Given the description of an element on the screen output the (x, y) to click on. 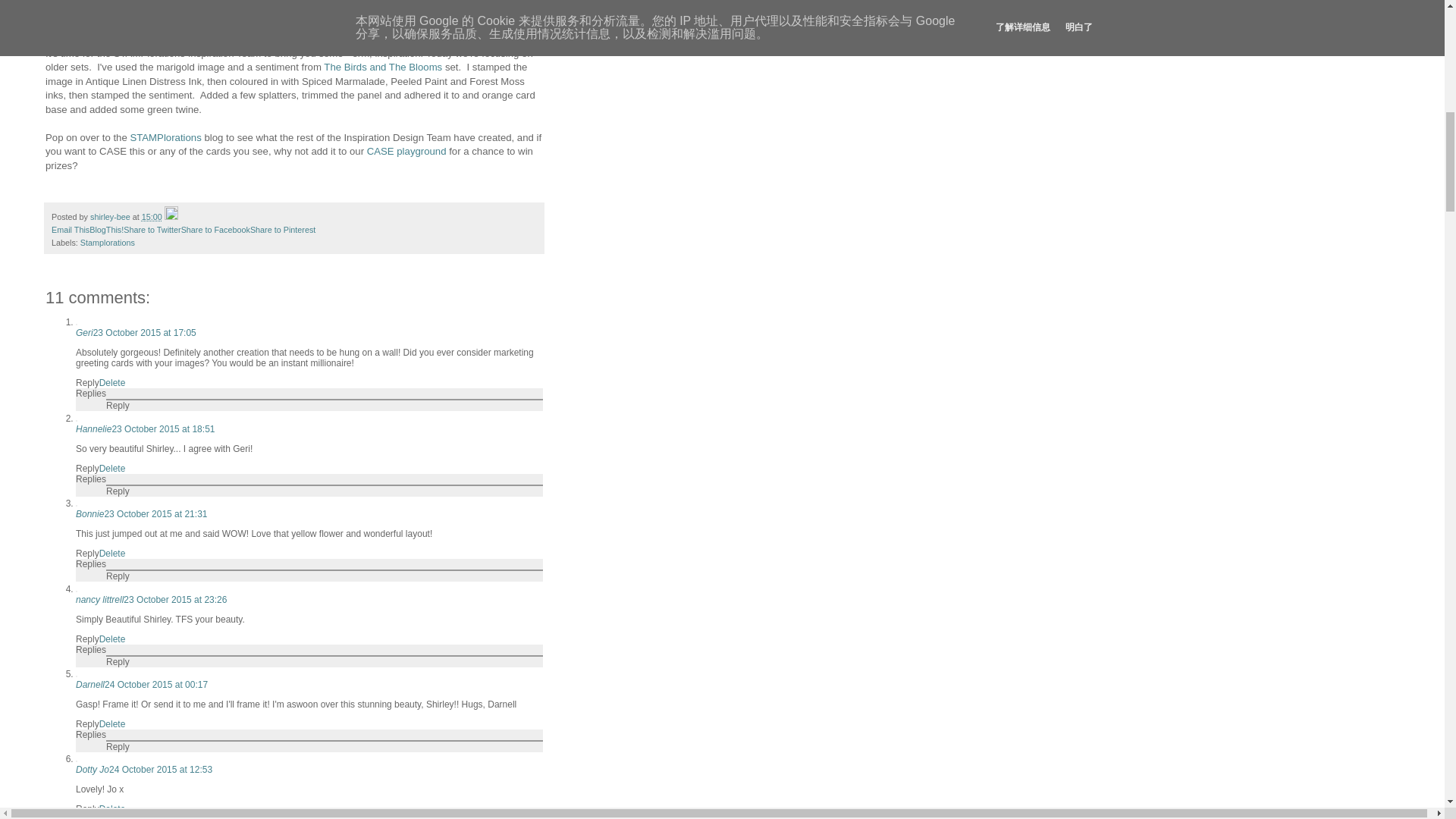
Delete (112, 552)
Delete (112, 382)
15:00 (151, 216)
Email This (69, 229)
Hannelie (93, 429)
Stamplorations (107, 242)
author profile (111, 216)
The Birds and The Blooms (382, 66)
Share to Twitter (151, 229)
Geri (84, 332)
Replies (90, 393)
Bonnie (89, 513)
CASE playground (406, 151)
BlogThis! (105, 229)
Share to Facebook (215, 229)
